Given the description of an element on the screen output the (x, y) to click on. 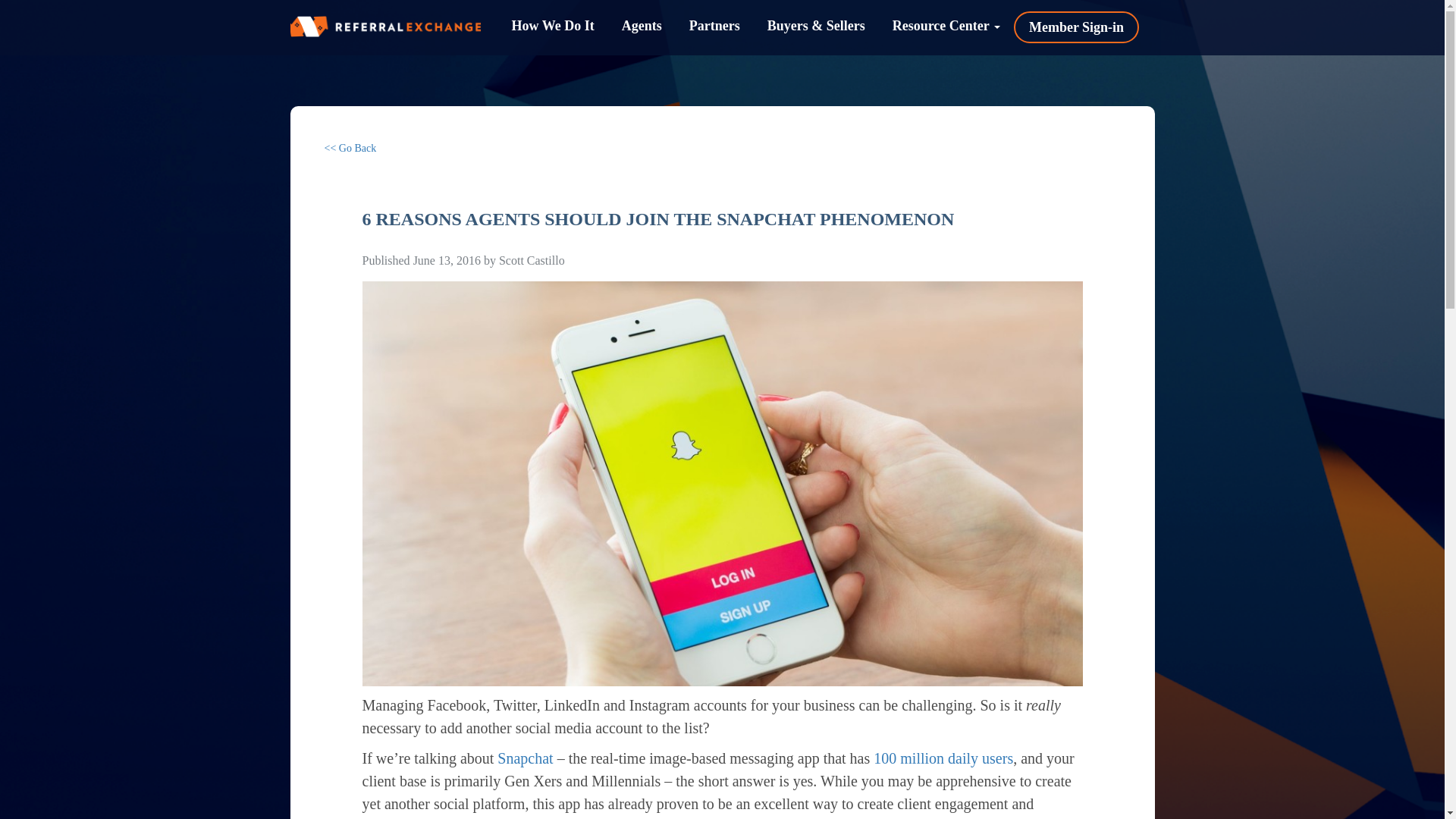
Partners (713, 25)
How We Do It (552, 25)
6 REASONS AGENTS SHOULD JOIN THE SNAPCHAT PHENOMENON (658, 219)
Resource Center (946, 25)
ReferralExchange (384, 25)
Snapchat (525, 758)
Scott Castillo (531, 259)
Agents (641, 25)
Member Sign-in (1076, 27)
100 million daily users (943, 758)
